Given the description of an element on the screen output the (x, y) to click on. 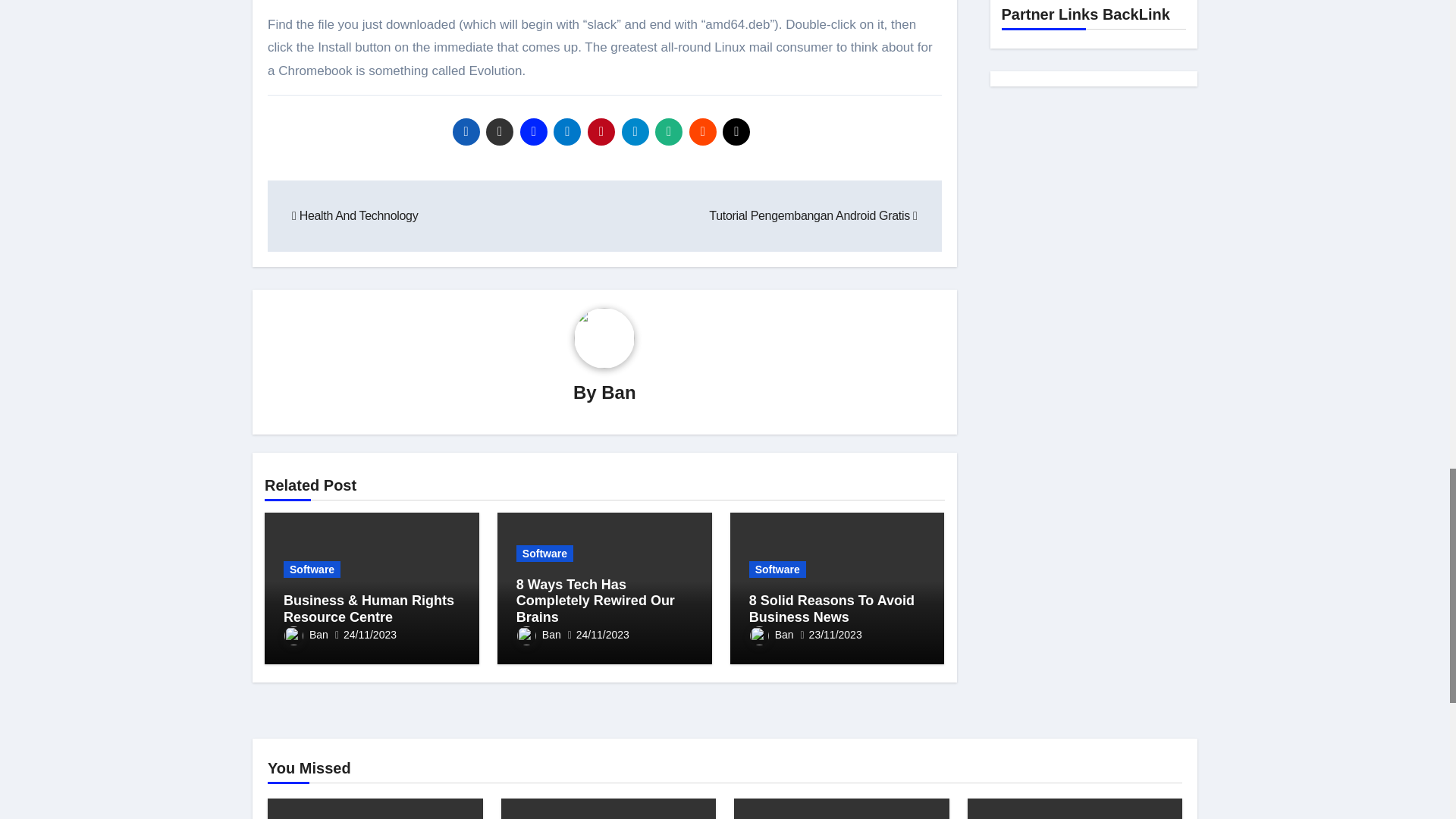
Permalink to: 8 Solid Reasons To Avoid Business News (831, 608)
Tutorial Pengembangan Android Gratis (813, 215)
Health And Technology (354, 215)
Permalink to: 8 Ways Tech Has Completely Rewired Our Brains (595, 600)
Ban (617, 392)
